Given the description of an element on the screen output the (x, y) to click on. 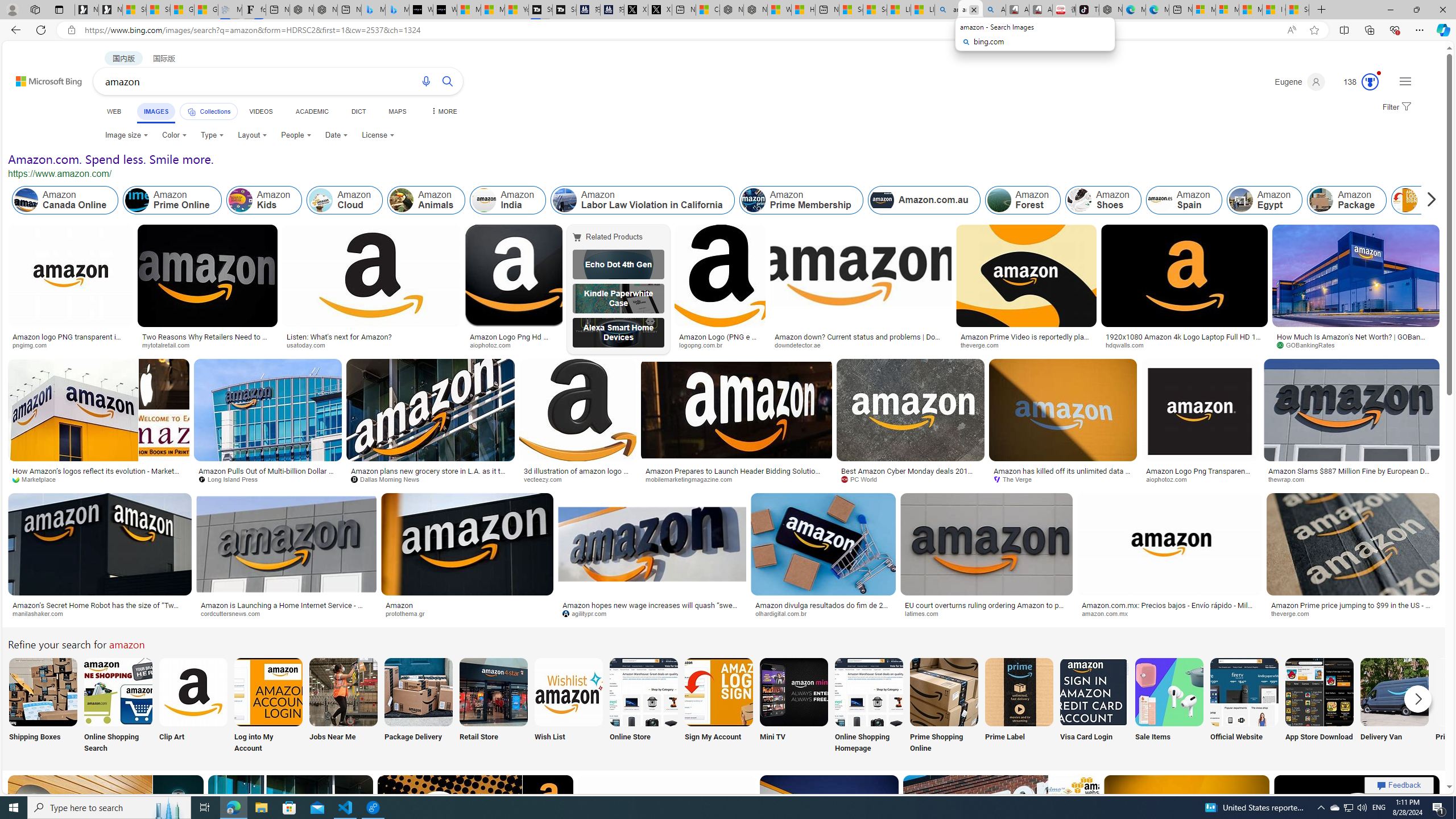
Amazon.com.au (923, 199)
olhardigital.com.br (784, 612)
Amazonprotothema.grSave (469, 557)
manilashaker.com (100, 613)
